Given the description of an element on the screen output the (x, y) to click on. 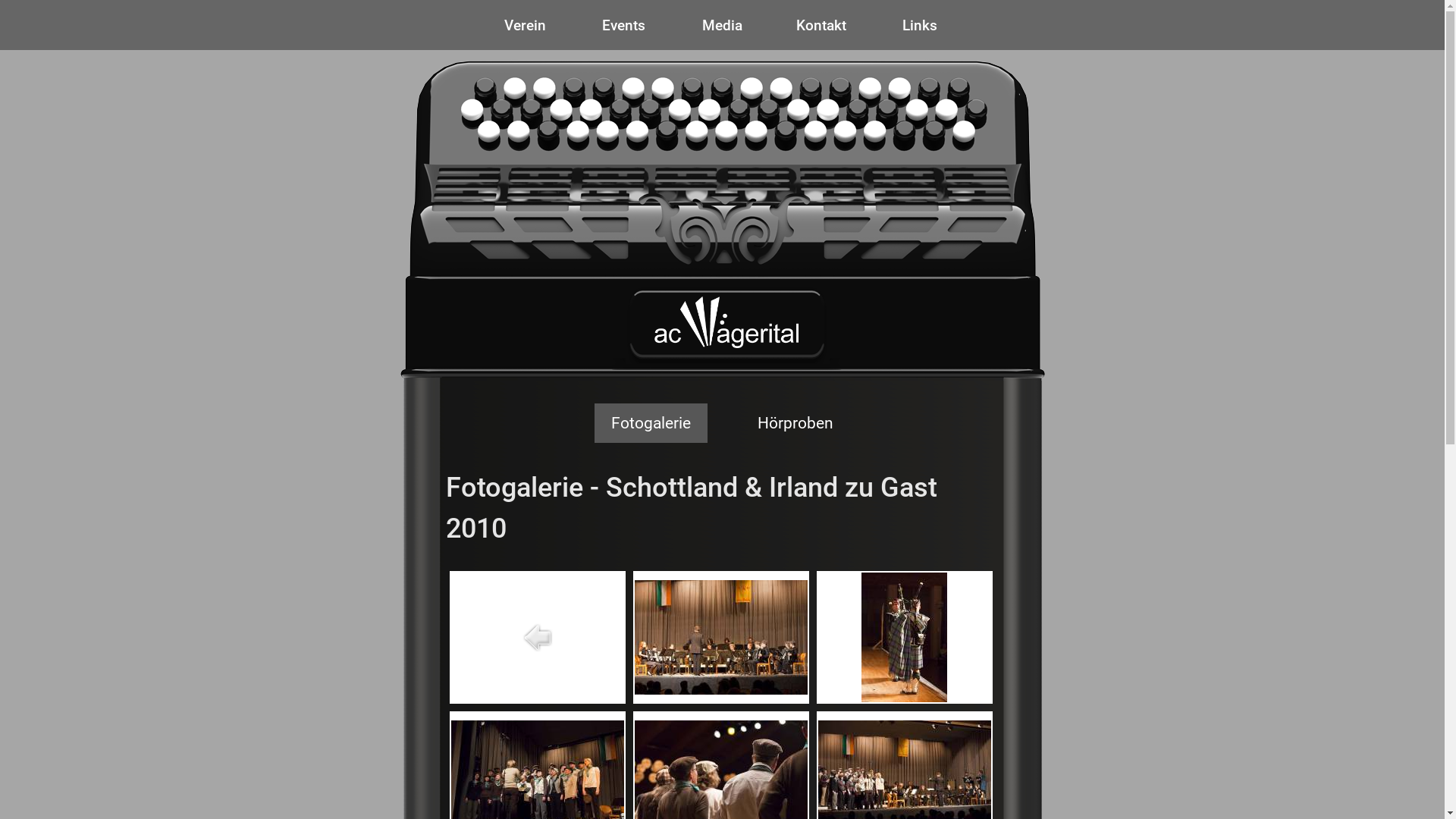
Events Element type: text (623, 25)
Links Element type: text (919, 25)
Media Element type: text (722, 25)
Verein Element type: text (525, 25)
Fotogalerie Element type: text (650, 423)
Kontakt Element type: text (820, 25)
